Given the description of an element on the screen output the (x, y) to click on. 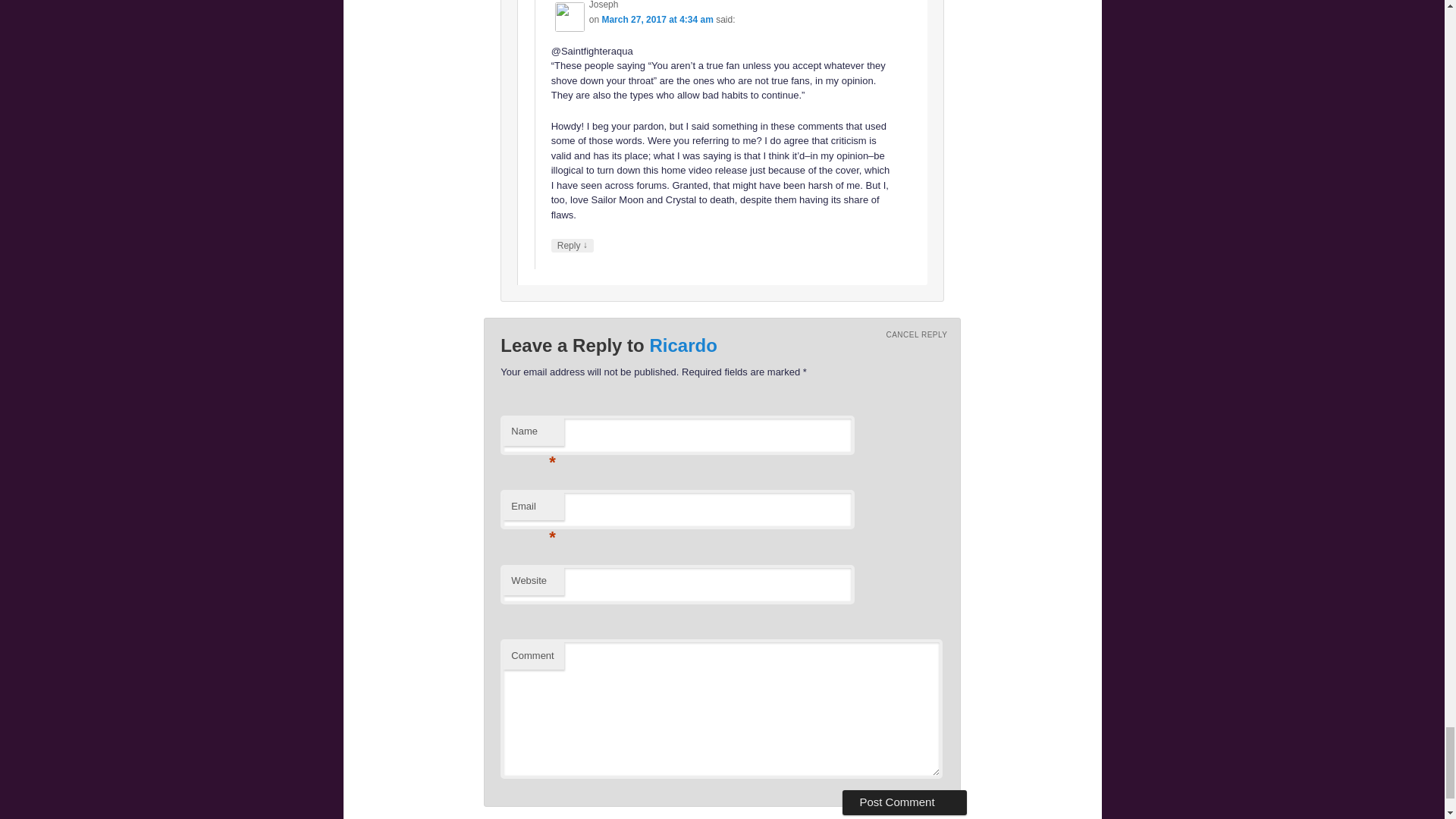
Post Comment (904, 802)
